Given the description of an element on the screen output the (x, y) to click on. 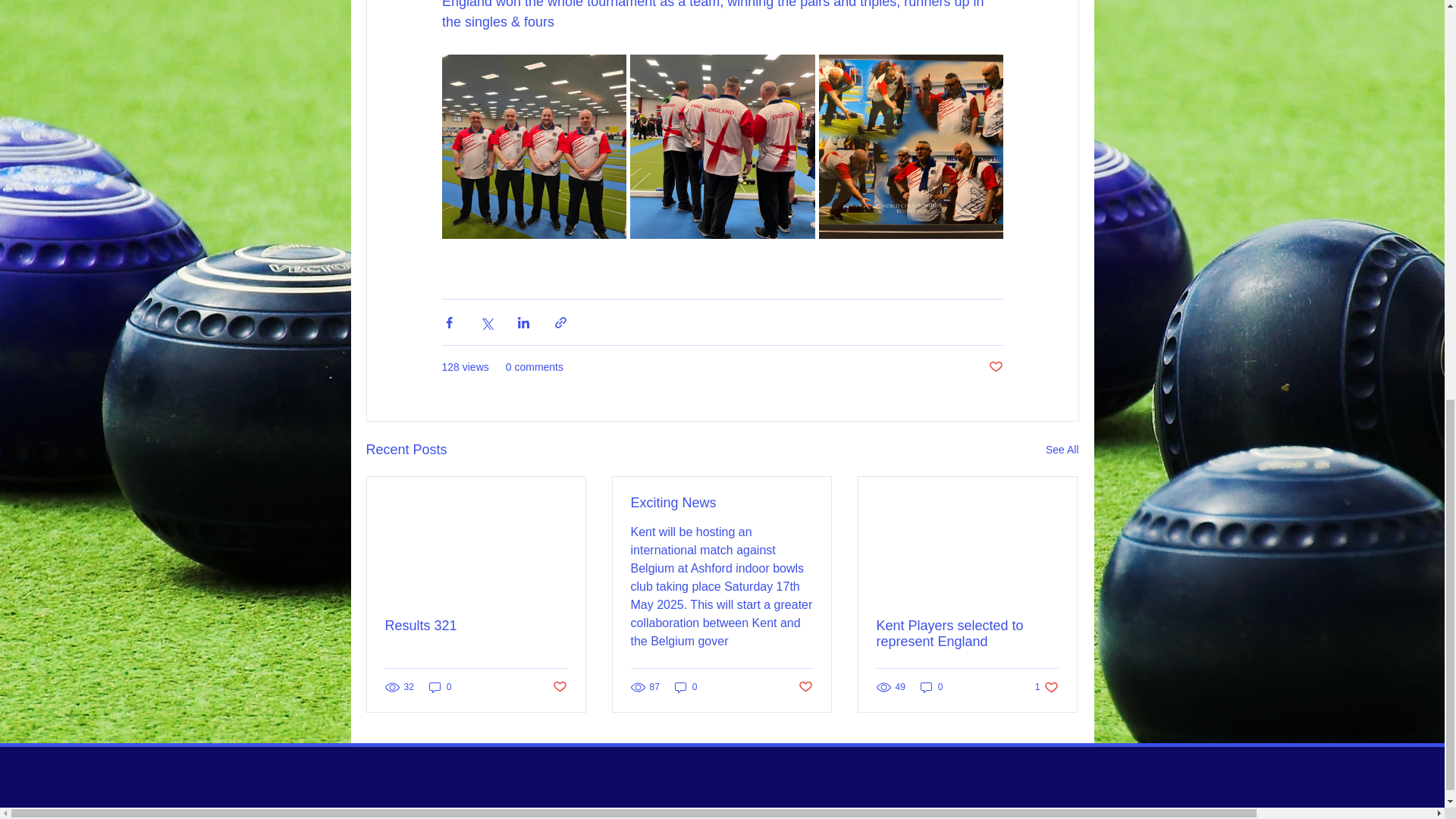
See All (1061, 449)
0 (1046, 687)
Post not marked as liked (685, 687)
Exciting News (804, 686)
Post not marked as liked (721, 503)
Results 321 (558, 686)
0 (476, 625)
Kent Players selected to represent England (440, 687)
Post not marked as liked (967, 634)
0 (995, 367)
